Given the description of an element on the screen output the (x, y) to click on. 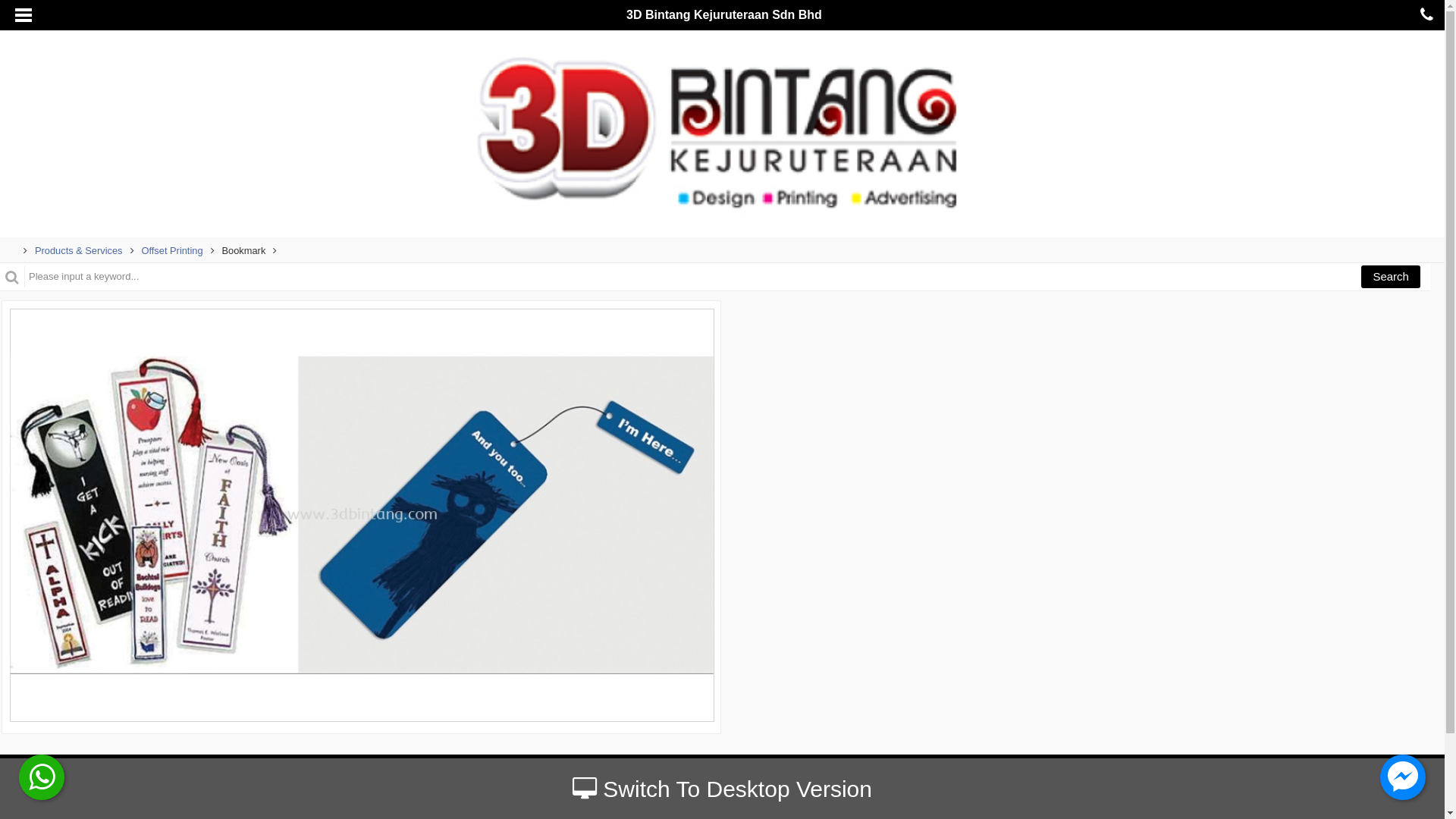
Menu Element type: text (798, 788)
Products & Services Element type: text (78, 250)
Switch To Desktop Version Element type: text (722, 788)
Search Element type: text (1390, 276)
PC Version   Element type: text (661, 788)
  Home Element type: text (733, 788)
Subscribe Newsletter Element type: text (722, 765)
Home Element type: text (9, 250)
Offset Printing Element type: text (171, 250)
